Given the description of an element on the screen output the (x, y) to click on. 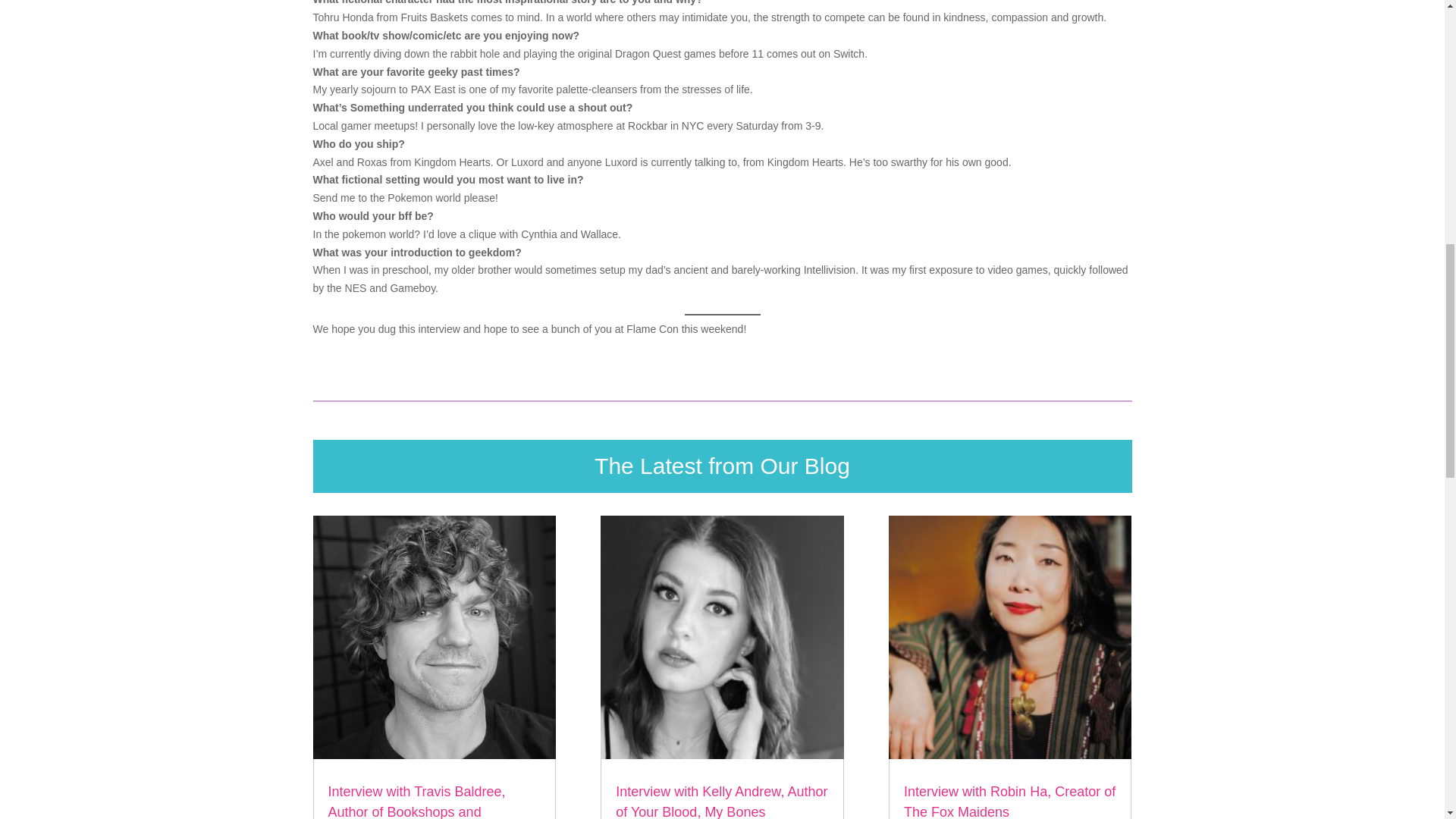
Interview with Kelly Andrew, Author of Your Blood, My Bones (721, 801)
